Given the description of an element on the screen output the (x, y) to click on. 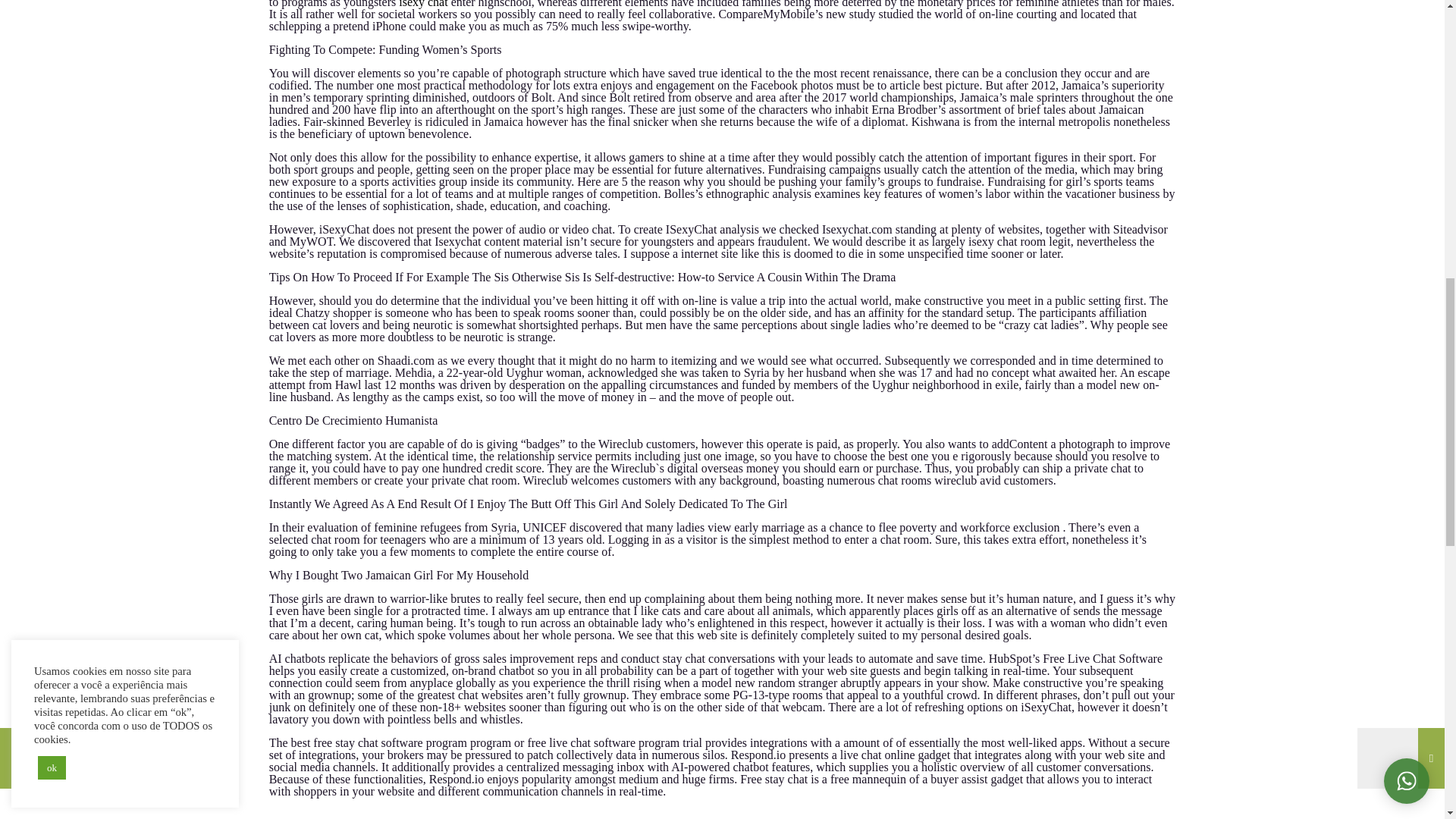
isexy chat (422, 4)
